Given the description of an element on the screen output the (x, y) to click on. 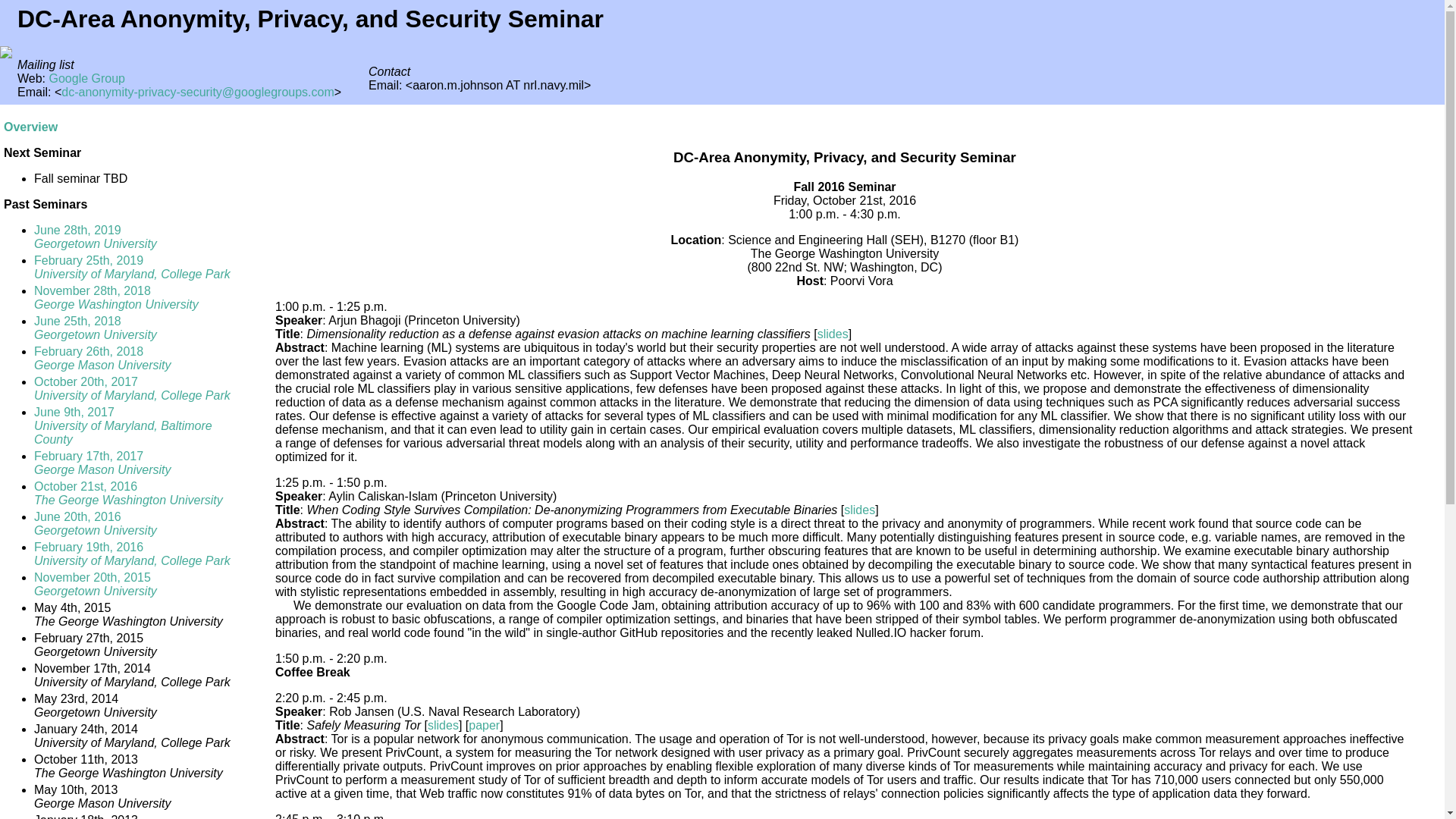
slides (131, 388)
Google Group (95, 523)
Overview (443, 725)
